Given the description of an element on the screen output the (x, y) to click on. 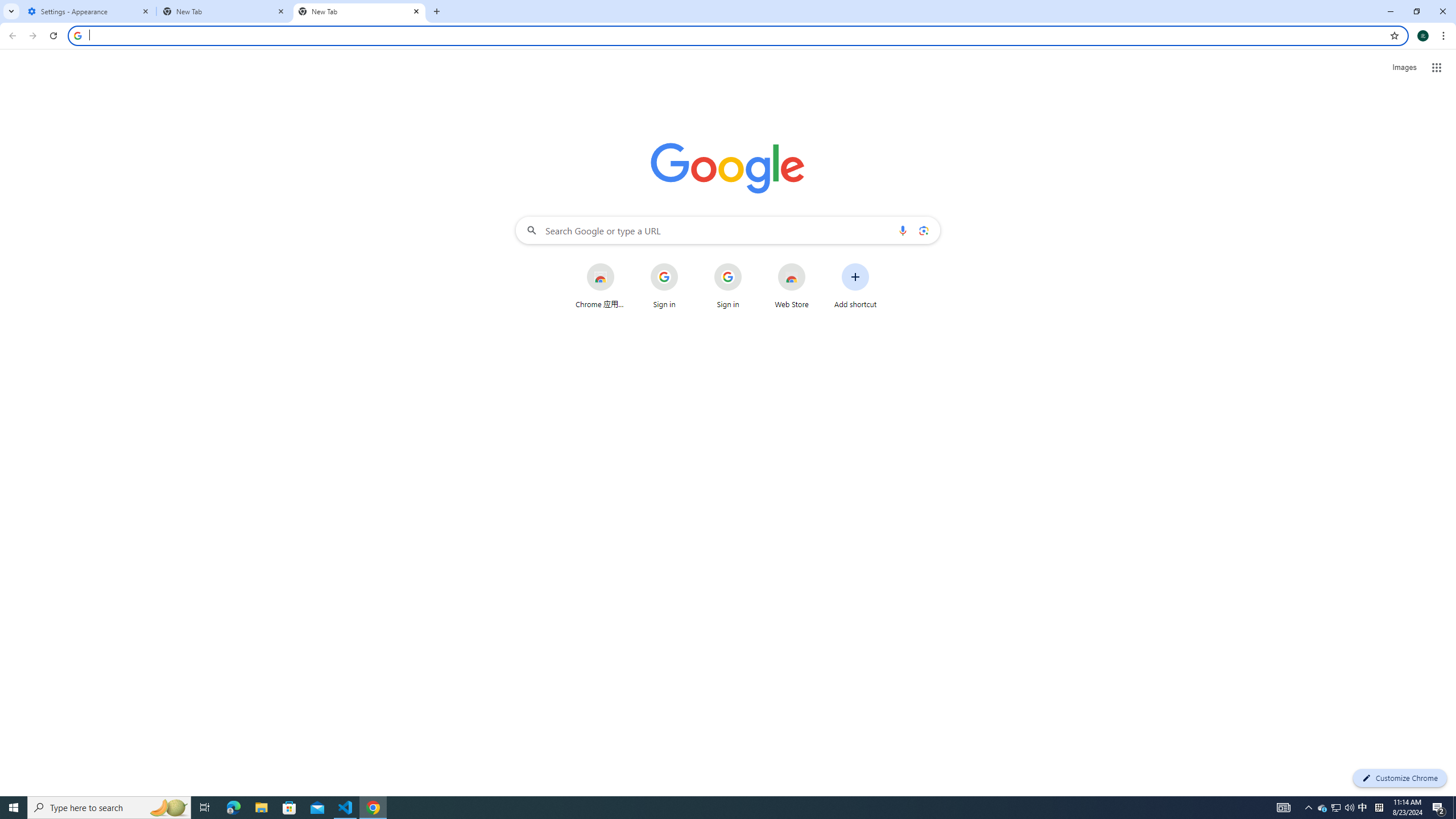
Web Store (792, 285)
